Given the description of an element on the screen output the (x, y) to click on. 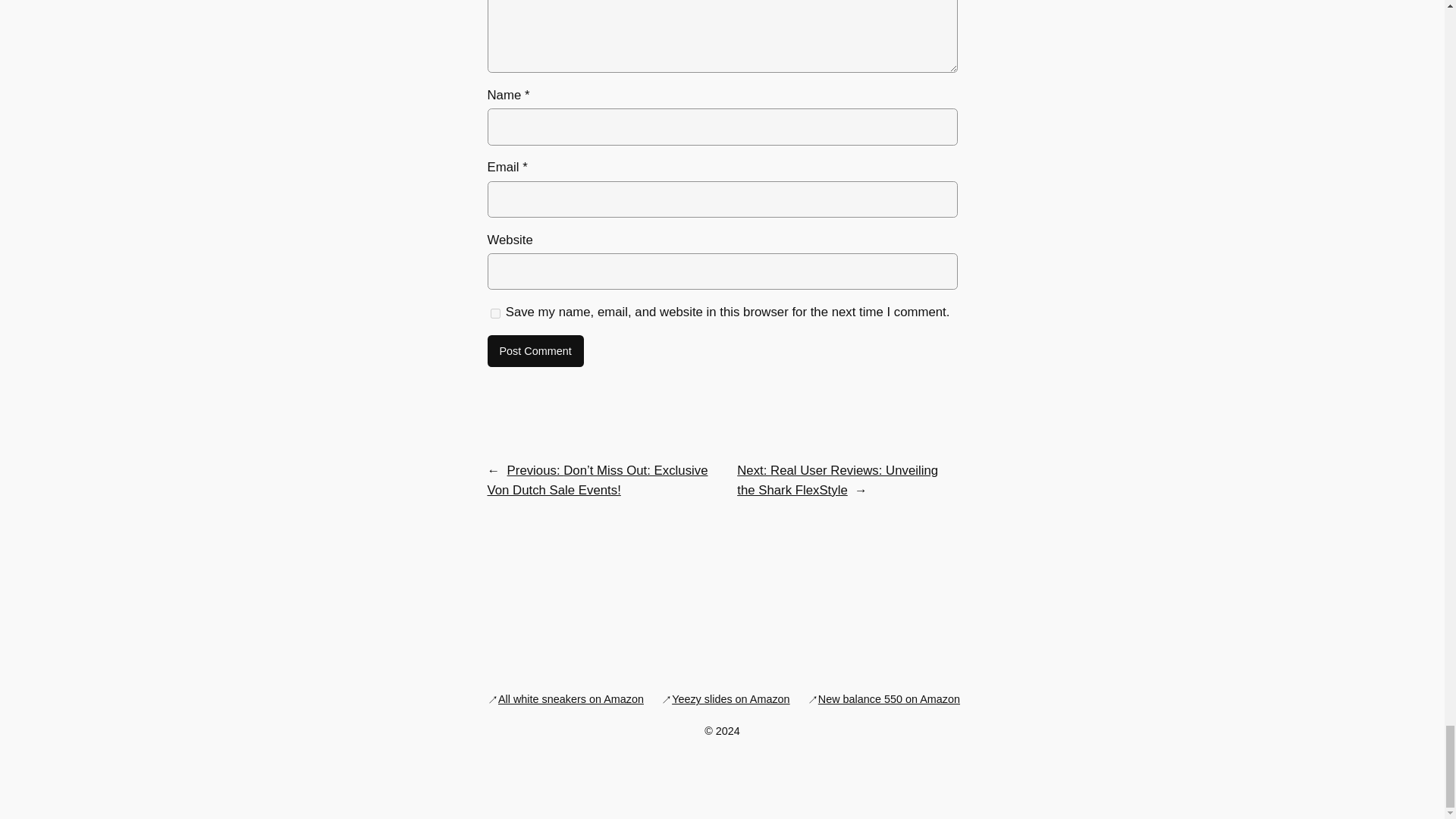
Post Comment (534, 350)
New balance 550 on Amazon (888, 699)
Post Comment (534, 350)
Next: Real User Reviews: Unveiling the Shark FlexStyle (836, 480)
All white sneakers on Amazon (570, 699)
Yeezy slides on Amazon (730, 699)
